Given the description of an element on the screen output the (x, y) to click on. 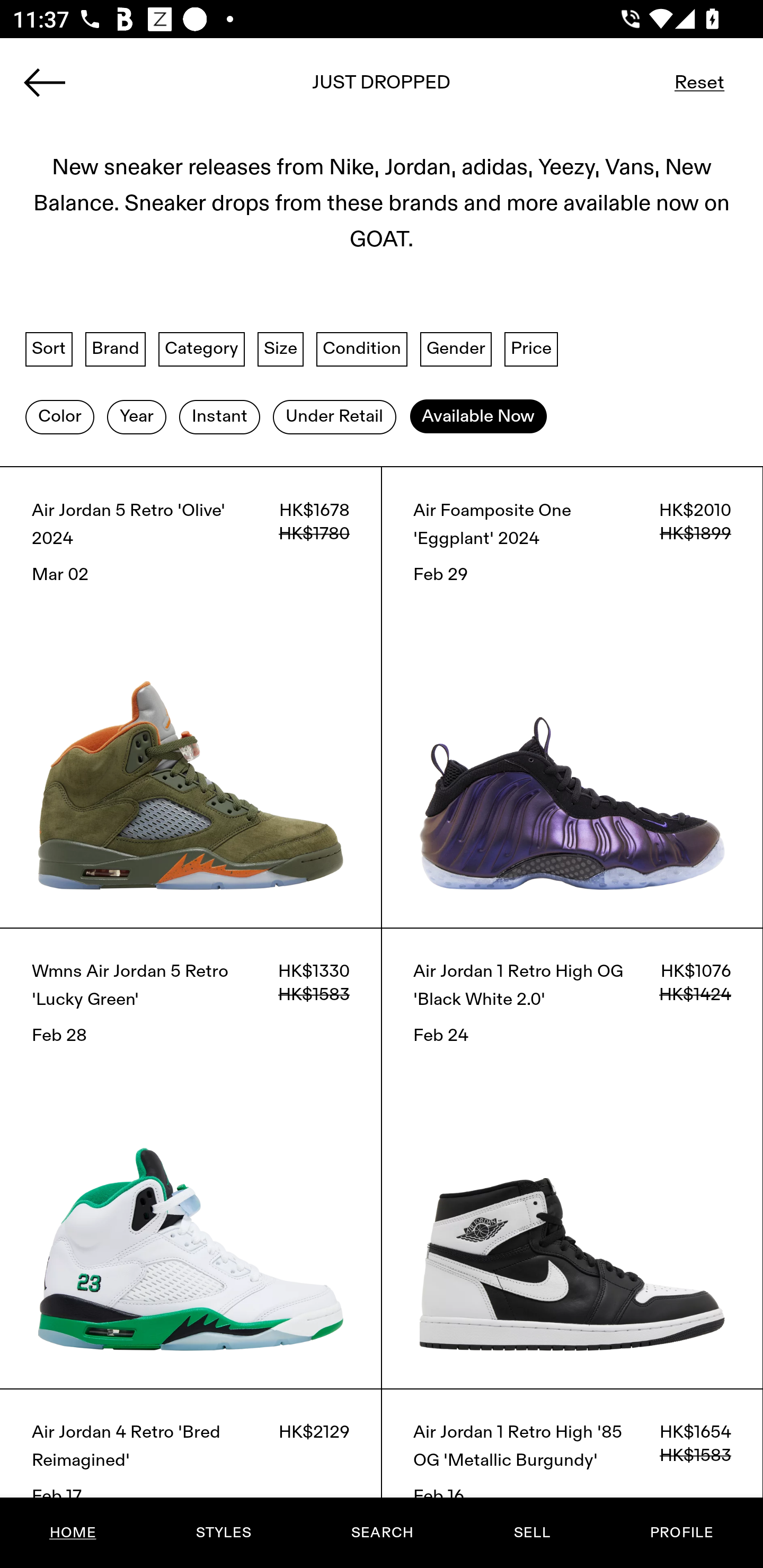
Reset (699, 82)
loafers (381, 88)
Sort (48, 348)
Brand (115, 348)
Category (201, 348)
Size (280, 348)
Condition (361, 348)
Gender (455, 348)
Price (530, 348)
Color (59, 416)
Year (136, 416)
Instant (219, 416)
Under Retail (334, 416)
Available Now (477, 416)
HOME (72, 1532)
STYLES (222, 1532)
SEARCH (381, 1532)
SELL (531, 1532)
PROFILE (681, 1532)
